Given the description of an element on the screen output the (x, y) to click on. 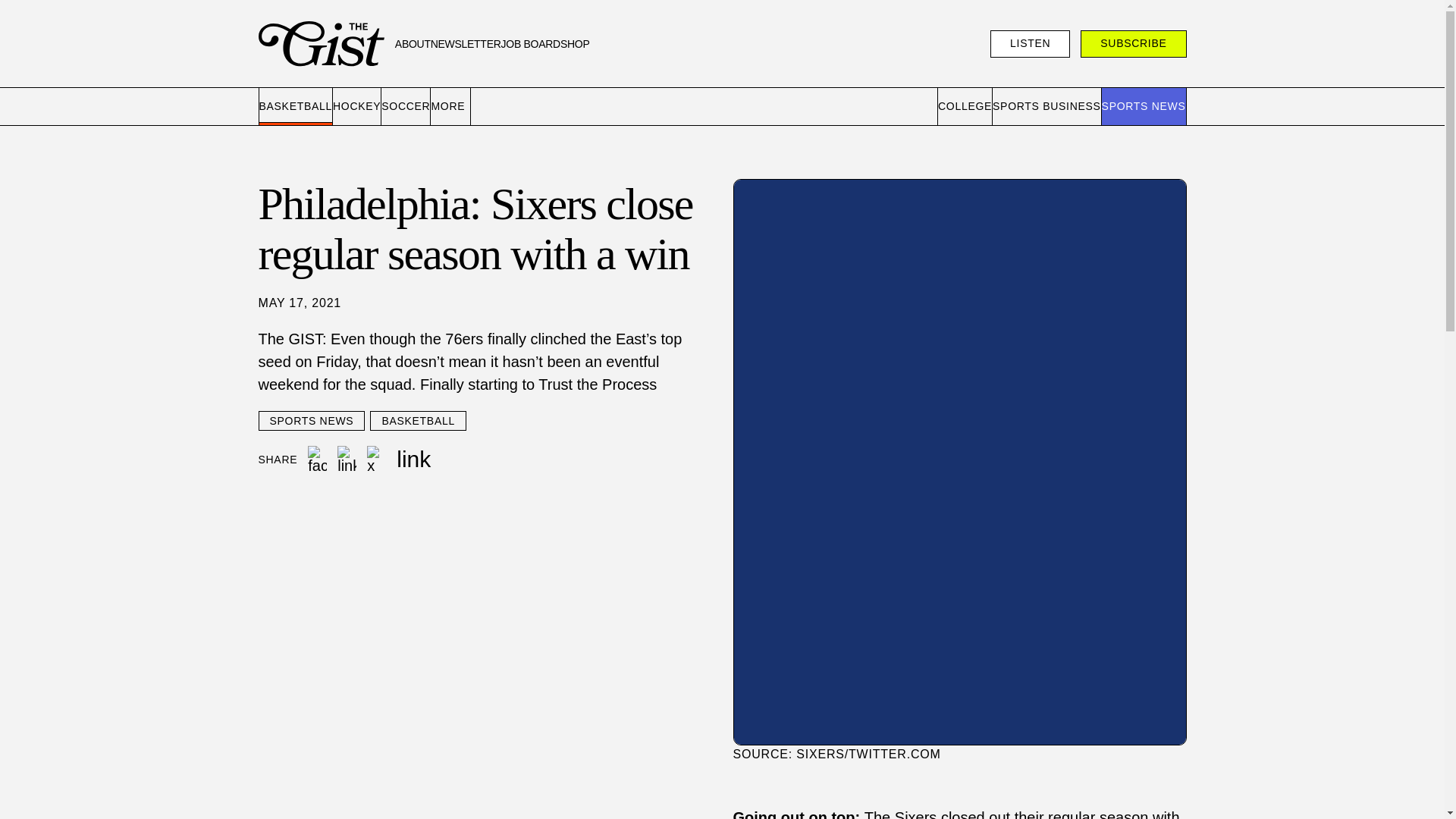
ABOUT (412, 44)
LISTEN (1030, 43)
MORE (450, 106)
BASKETBALL (296, 106)
HOCKEY (357, 106)
SUBSCRIBE (1133, 43)
SHOP (574, 44)
SOCCER (405, 106)
JOB BOARD (530, 44)
NEWSLETTER (465, 44)
